Given the description of an element on the screen output the (x, y) to click on. 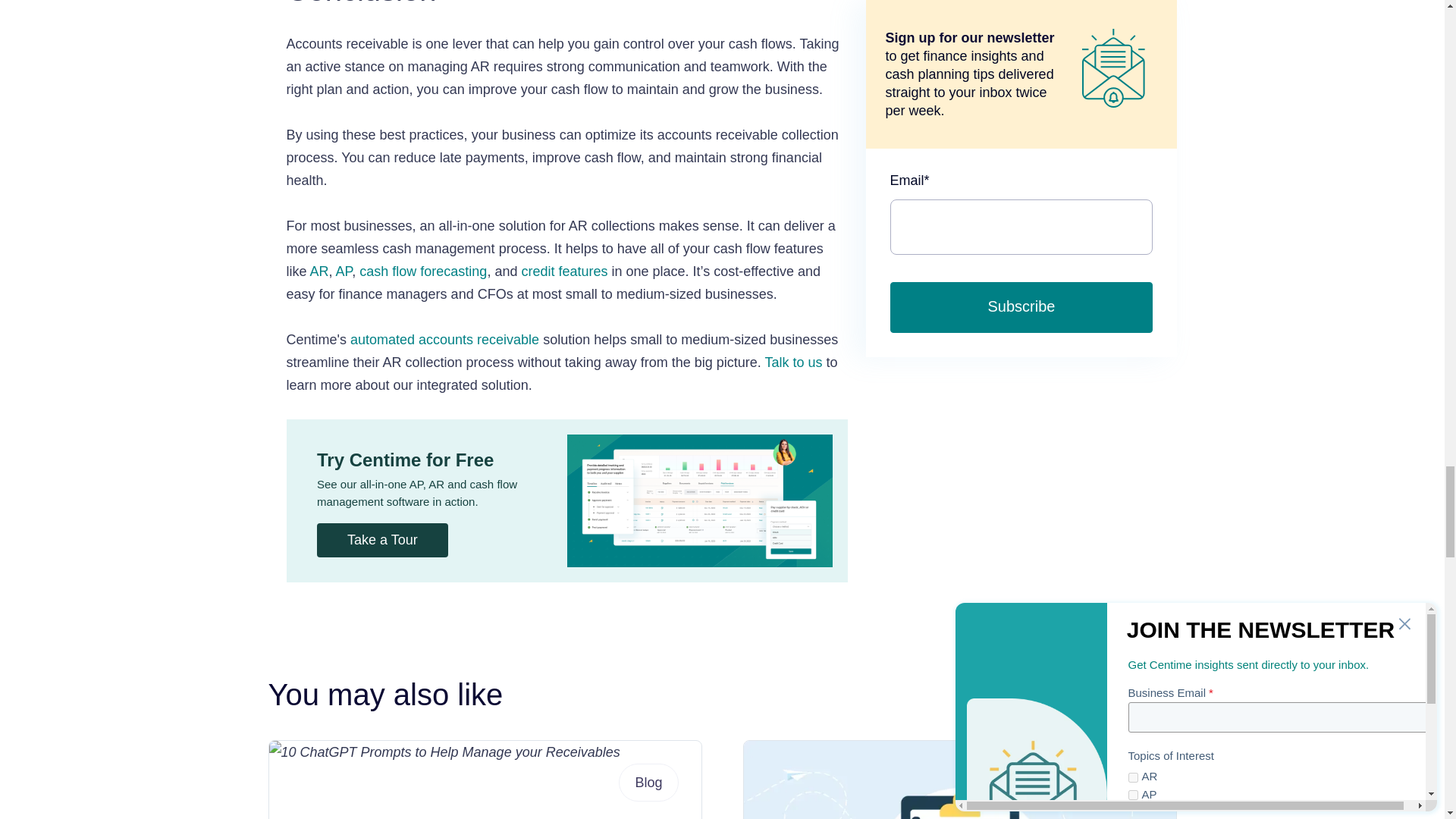
Embedded CTA (566, 500)
